Given the description of an element on the screen output the (x, y) to click on. 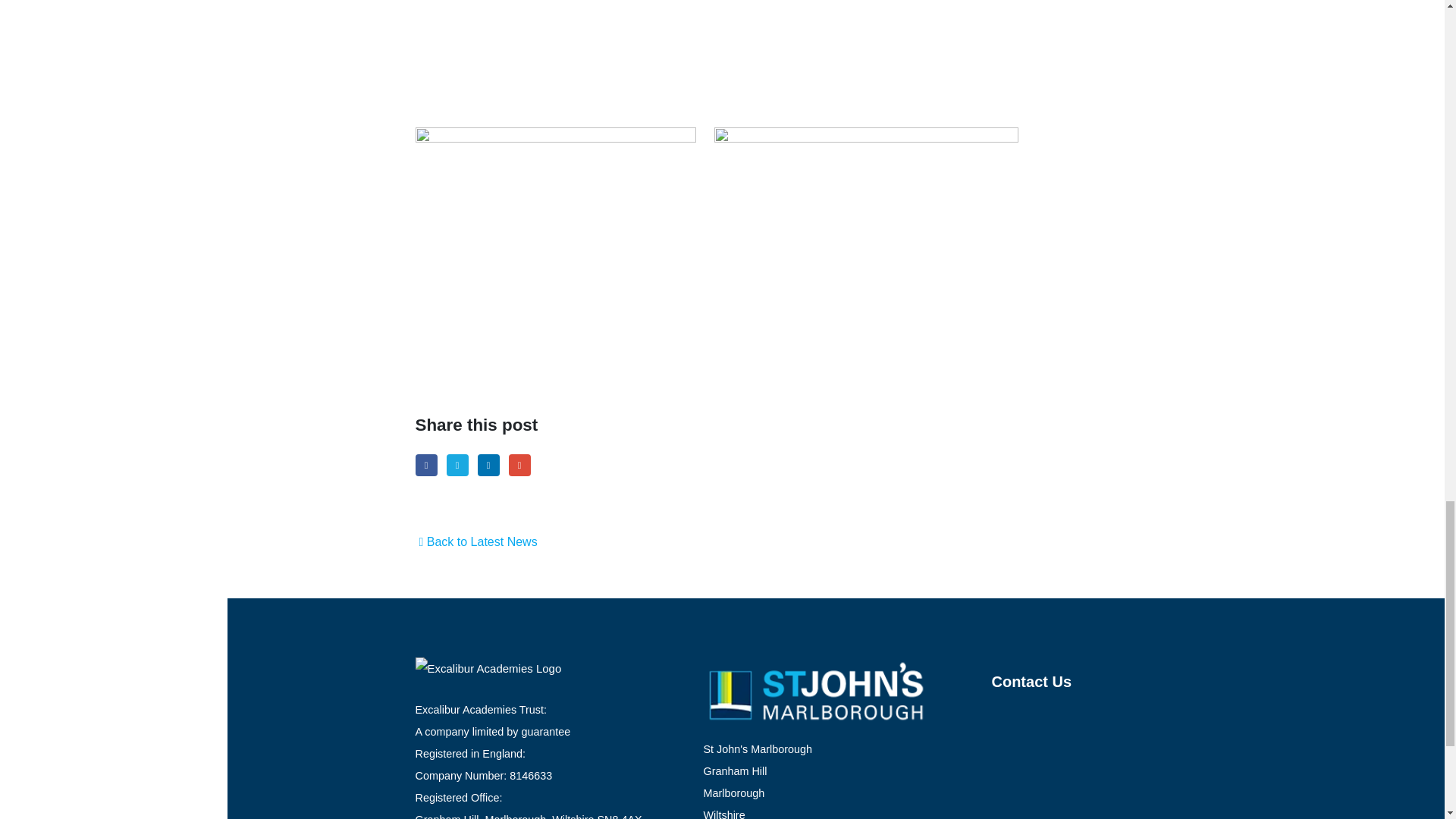
Twitter (457, 464)
LinkedIn (488, 464)
Facebook (426, 464)
Excalibur Academies Trust (816, 689)
Email (519, 464)
Excalibur Academies Trust (488, 666)
